Given the description of an element on the screen output the (x, y) to click on. 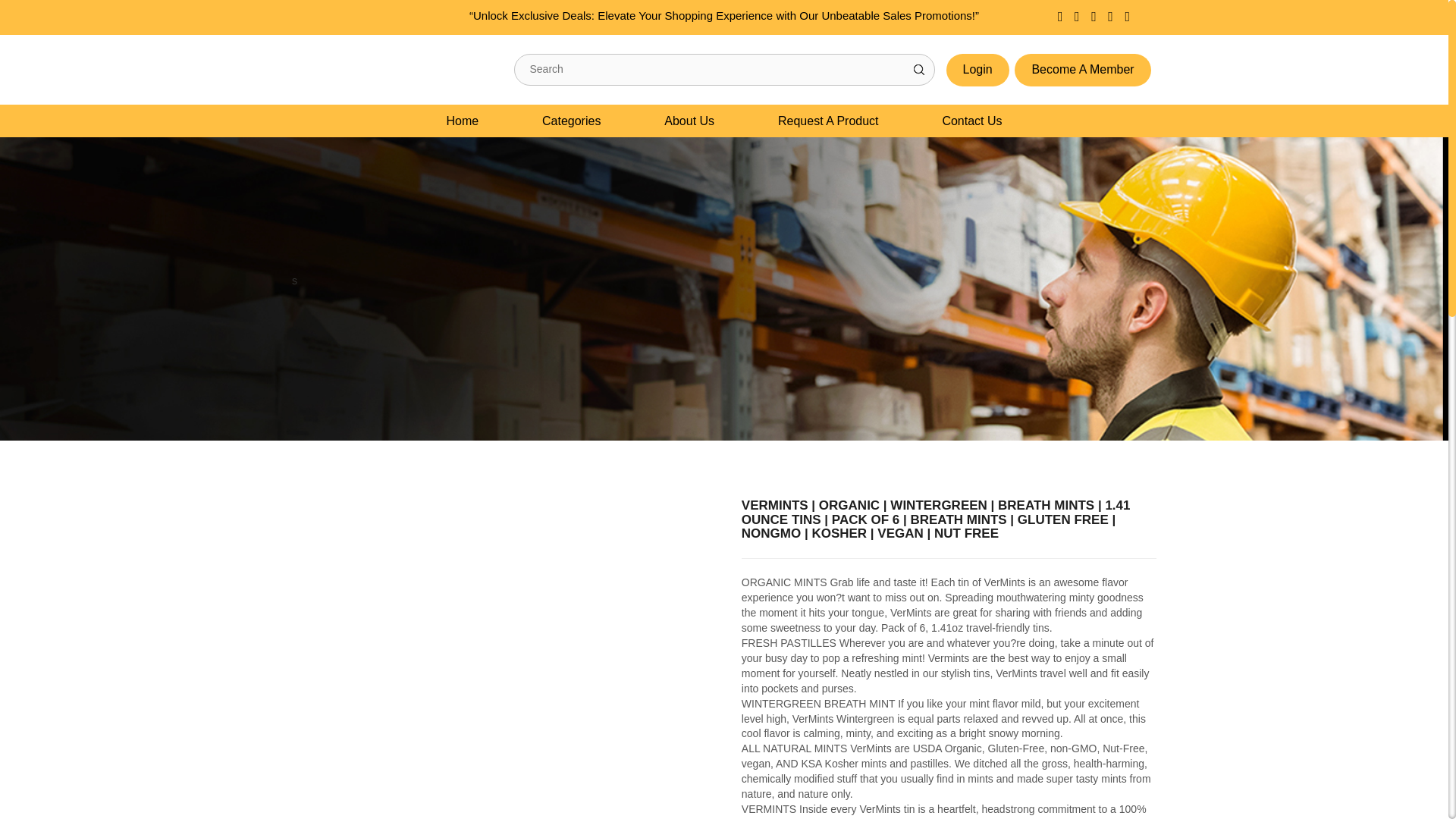
About Us (689, 121)
Contact Us (971, 121)
Search (917, 69)
Home (461, 121)
Login (977, 70)
Become A Member (1082, 70)
Request A Product (827, 121)
Search (917, 69)
Categories (571, 121)
Search (917, 69)
